Given the description of an element on the screen output the (x, y) to click on. 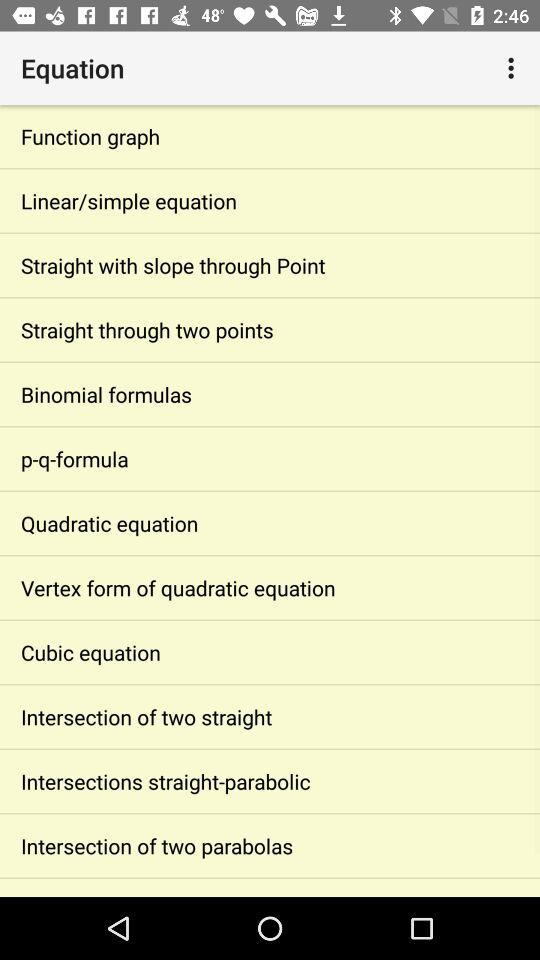
flip to p-q-formula icon (270, 458)
